Given the description of an element on the screen output the (x, y) to click on. 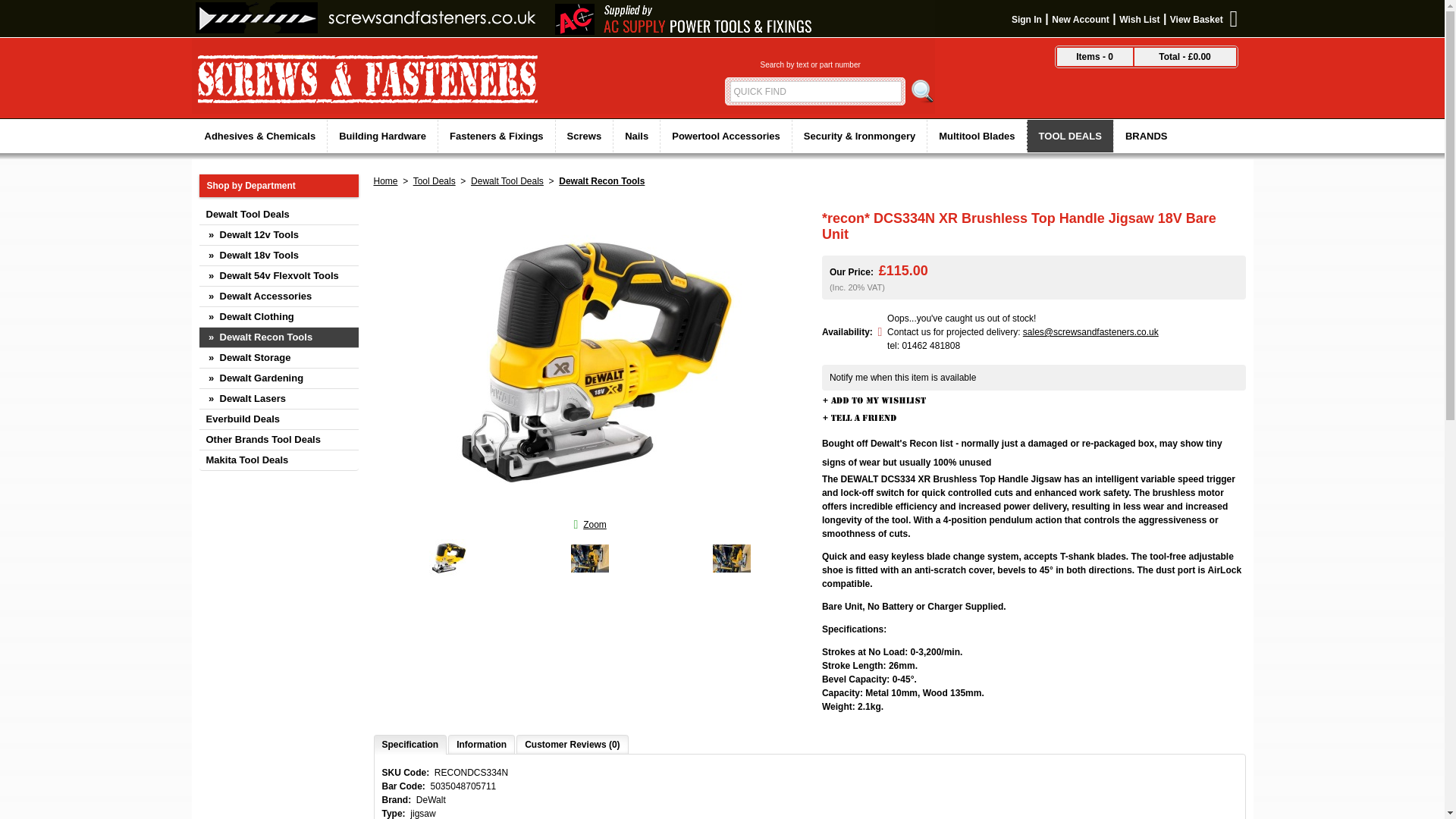
Makita Tool Deals (278, 460)
Add to Wish List (879, 400)
Dewalt Recon Tools (602, 181)
Other Brands Tool Deals (278, 439)
Dewalt Tool Deals (278, 214)
Information (480, 744)
Home (384, 181)
Everbuild Deals (278, 419)
Notify me when this item is available (902, 377)
Dewalt Tool Deals (506, 181)
